Given the description of an element on the screen output the (x, y) to click on. 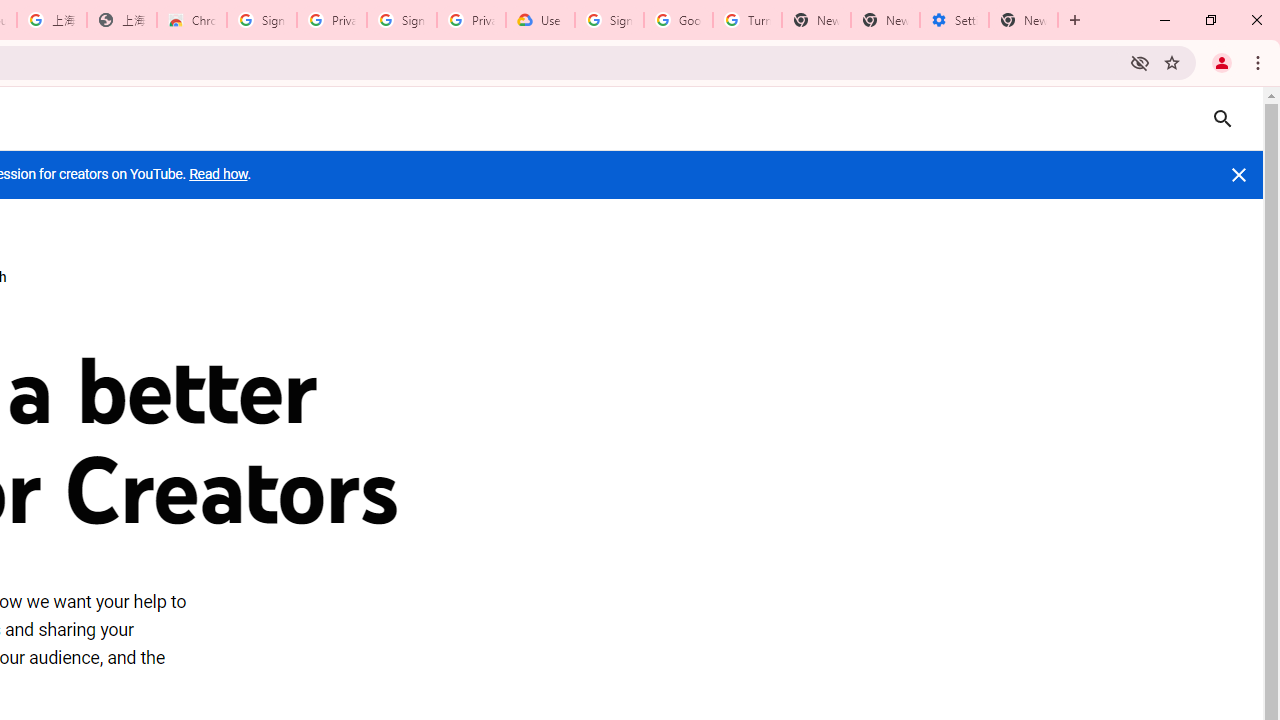
Settings - System (954, 20)
Turn cookies on or off - Computer - Google Account Help (747, 20)
Sign in - Google Accounts (261, 20)
Read how (218, 174)
